Given the description of an element on the screen output the (x, y) to click on. 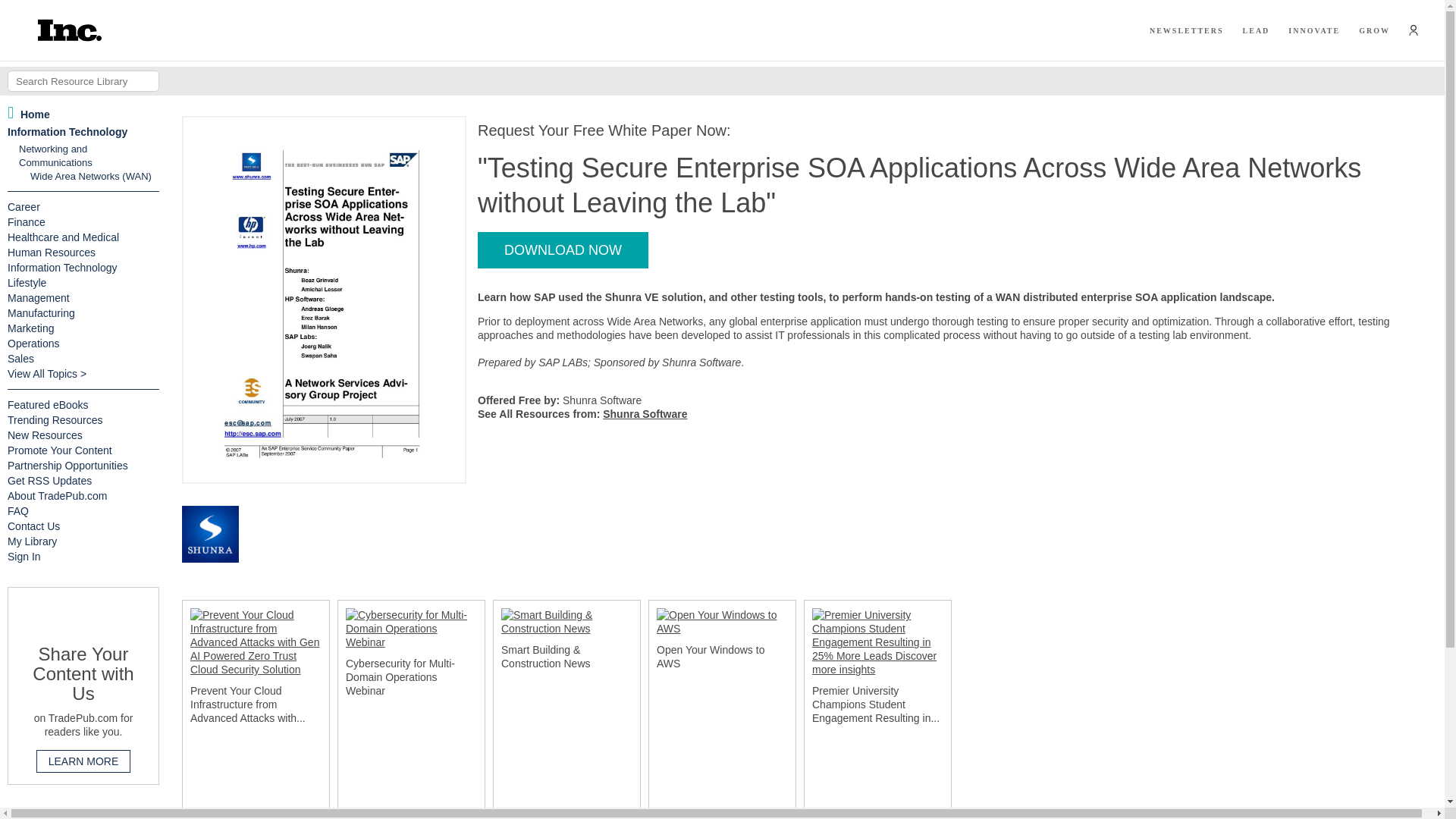
Continue to Innovate on Inc.com (1313, 30)
Continue to Grow on Inc.com (1374, 30)
Continue to Newsletters on Inc.com (1187, 30)
Continue to Lead on Inc.com (1256, 30)
